Given the description of an element on the screen output the (x, y) to click on. 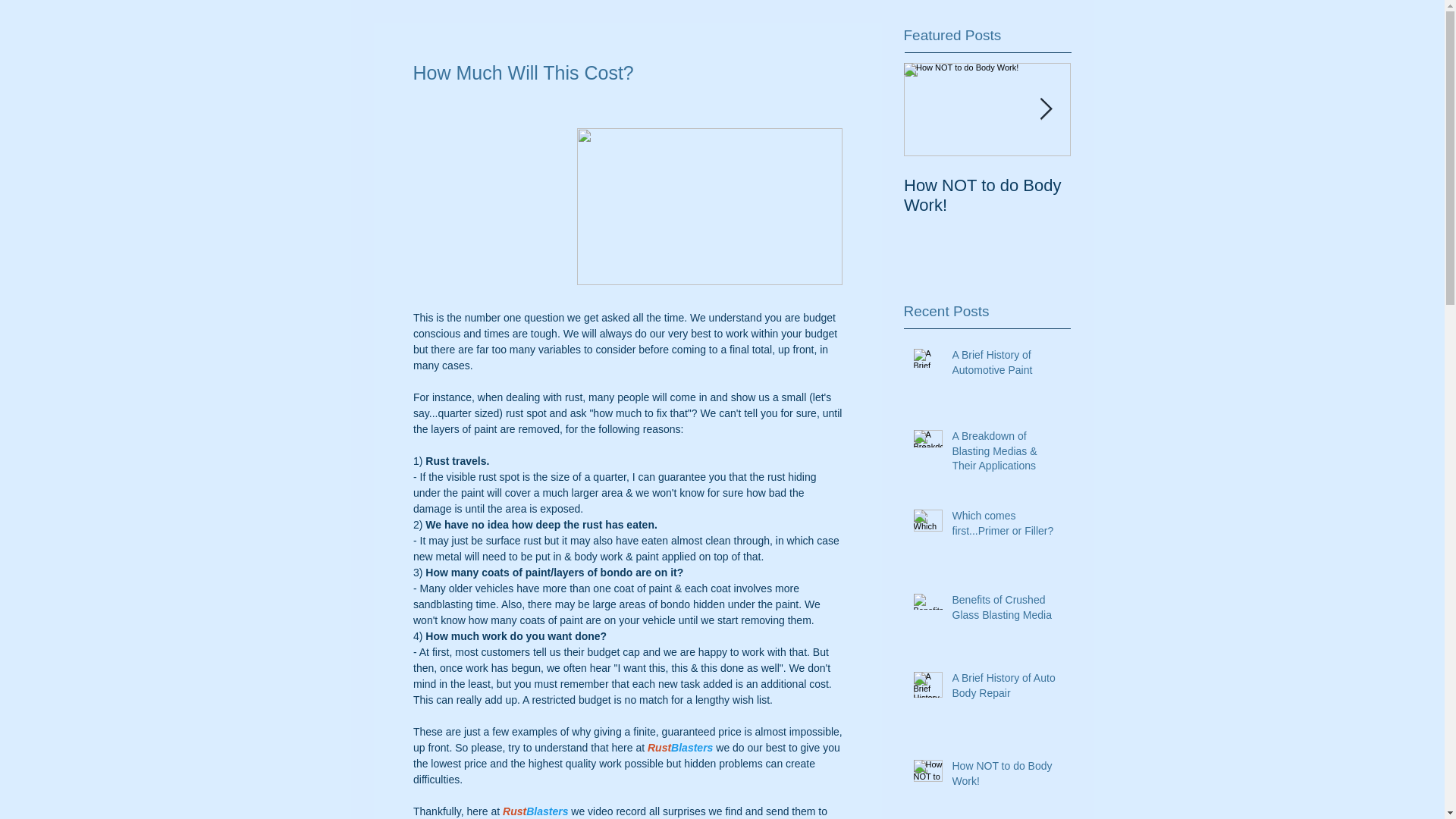
Rust (513, 811)
How NOT to do Body Work! (1006, 776)
Blasters (692, 747)
Which comes first...Primer or Filler? (1006, 526)
A Brief History of Automotive Paint (1006, 366)
Rust (657, 747)
Benefits of Crushed Glass Blasting Media (1006, 610)
How Much Will This Cost? (1153, 195)
How NOT to do Body Work! (987, 195)
Blasters (546, 811)
